Given the description of an element on the screen output the (x, y) to click on. 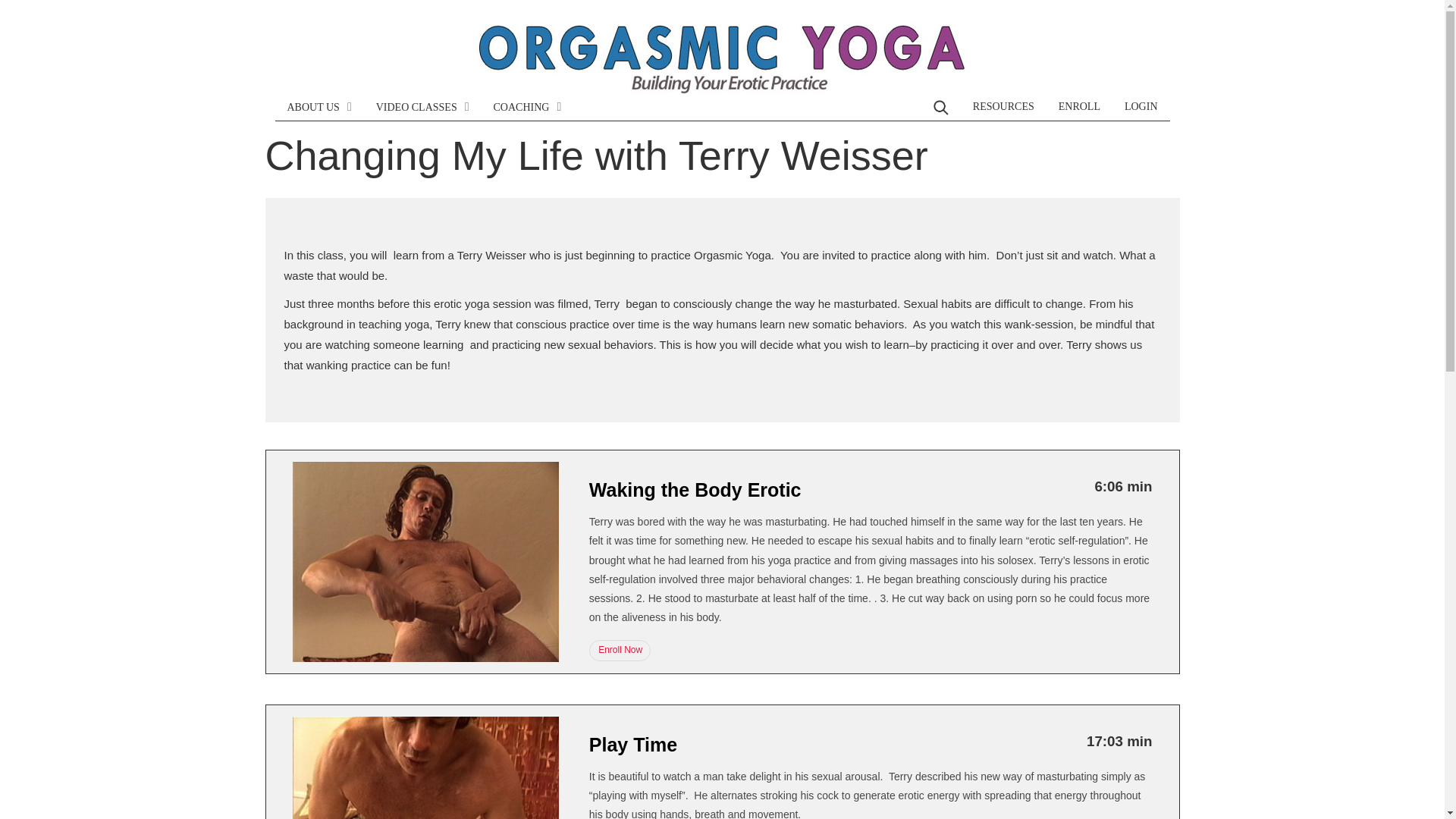
ABOUT US (318, 107)
VIDEO CLASSES (422, 107)
Play Time (633, 744)
COACHING (527, 107)
Waking the Body Erotic (695, 489)
